Given the description of an element on the screen output the (x, y) to click on. 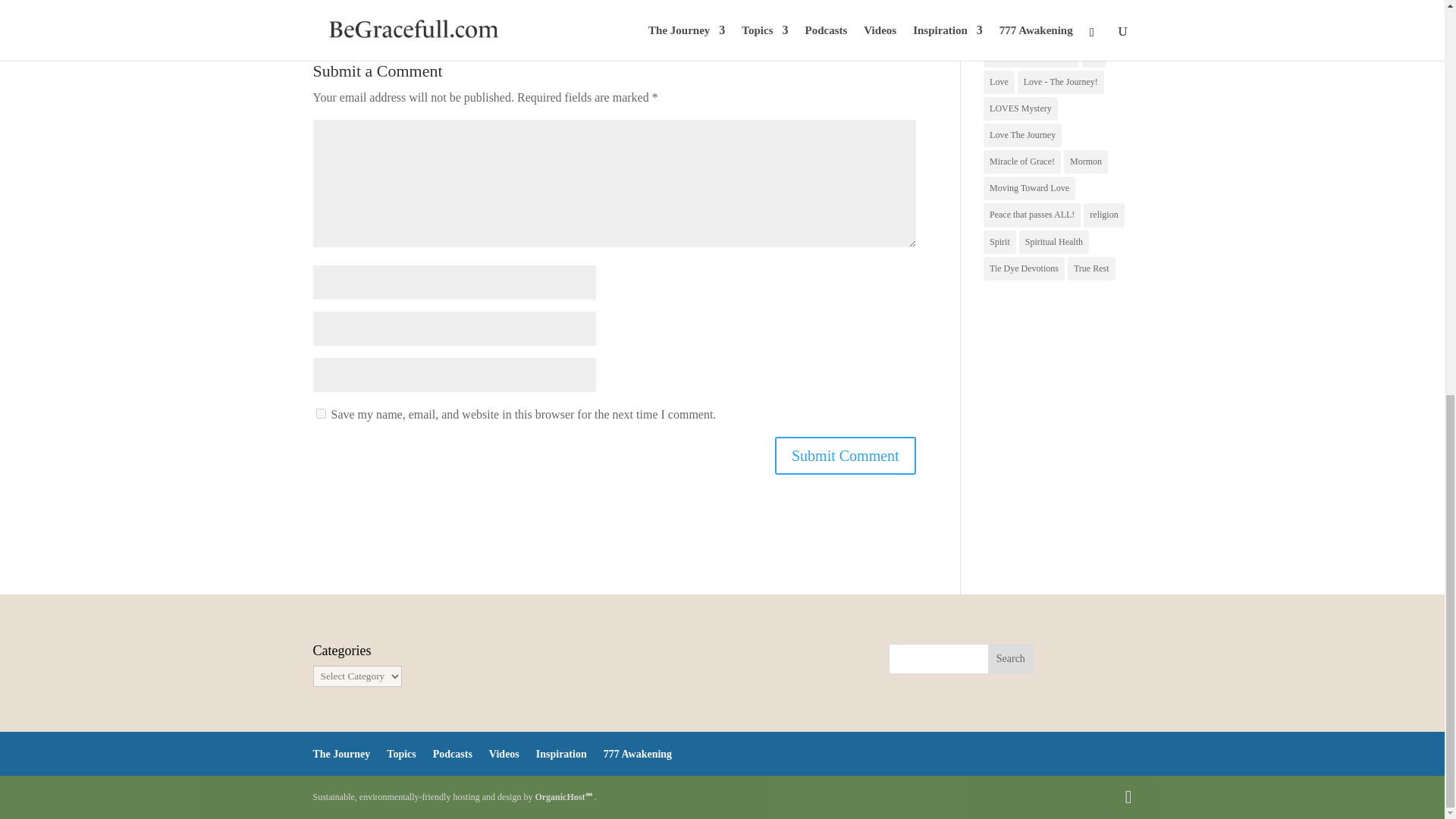
Search (1010, 658)
yes (319, 413)
Submit Comment (844, 455)
Submit Comment (844, 455)
